Given the description of an element on the screen output the (x, y) to click on. 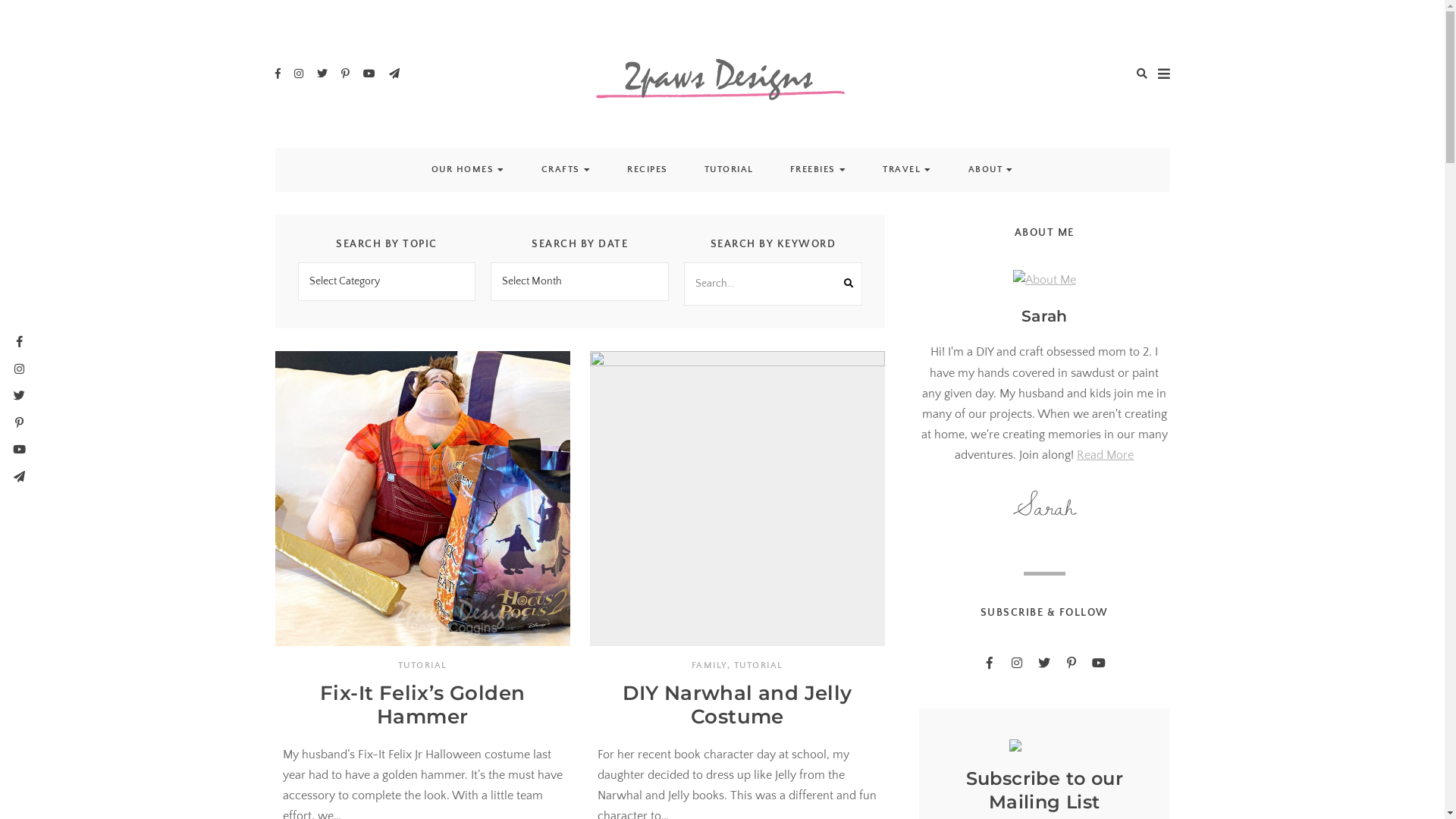
FREEBIES Element type: text (812, 169)
TUTORIAL Element type: text (728, 169)
RECIPES Element type: text (647, 169)
Skip to content Element type: text (0, 0)
TUTORIAL Element type: text (758, 665)
ABOUT Element type: text (984, 169)
Read More Element type: text (1104, 454)
TUTORIAL Element type: text (422, 665)
TRAVEL Element type: text (901, 169)
CRAFTS Element type: text (560, 169)
FAMILY Element type: text (709, 665)
OUR HOMES Element type: text (461, 169)
2paws Designs Element type: text (806, 143)
DIY Narwhal and Jelly Costume Element type: text (736, 704)
